Given the description of an element on the screen output the (x, y) to click on. 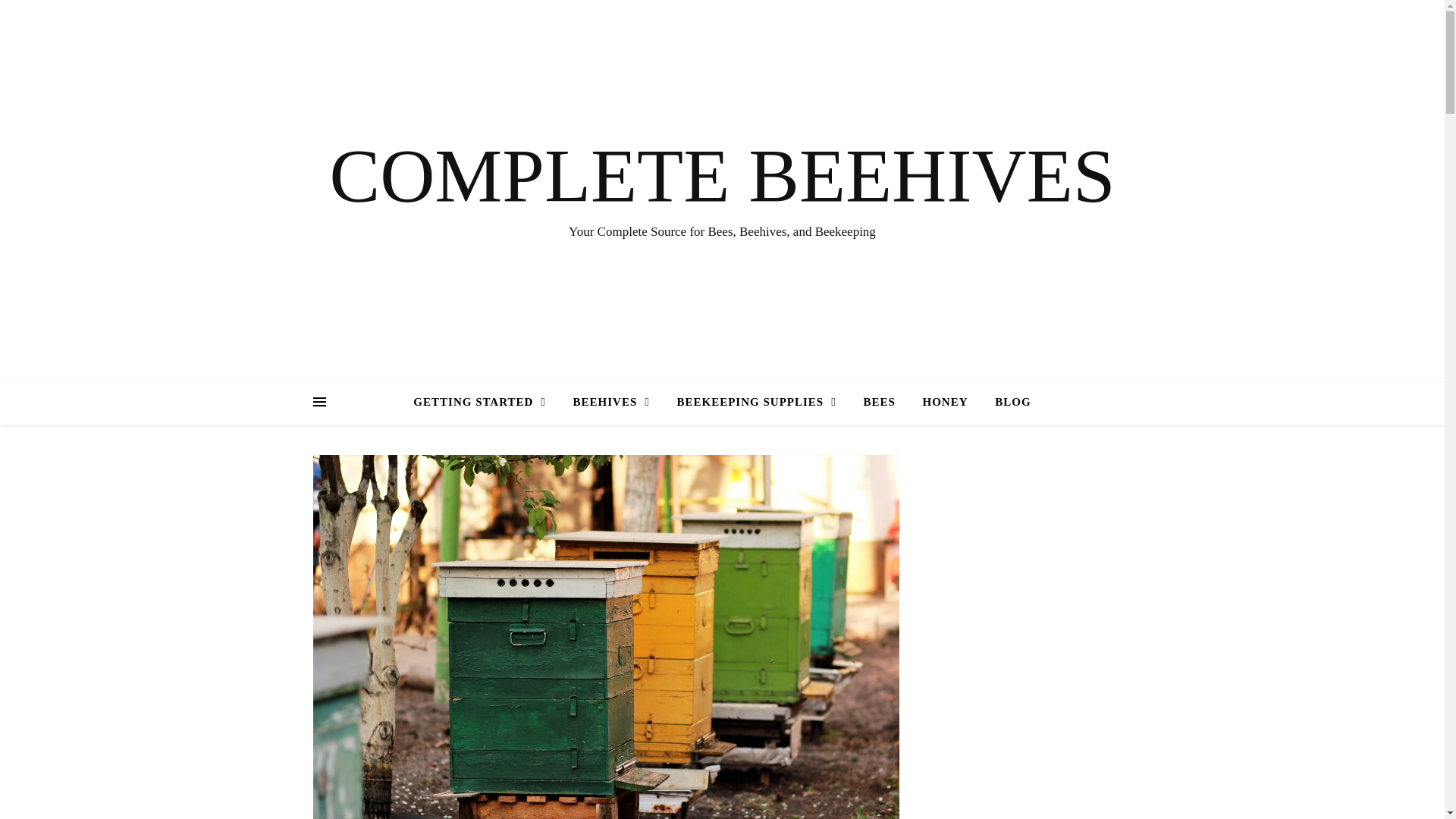
BEES (878, 402)
GETTING STARTED (485, 402)
BEEKEEPING SUPPLIES (756, 402)
BEEHIVES (611, 402)
HONEY (944, 402)
BLOG (1006, 402)
